Given the description of an element on the screen output the (x, y) to click on. 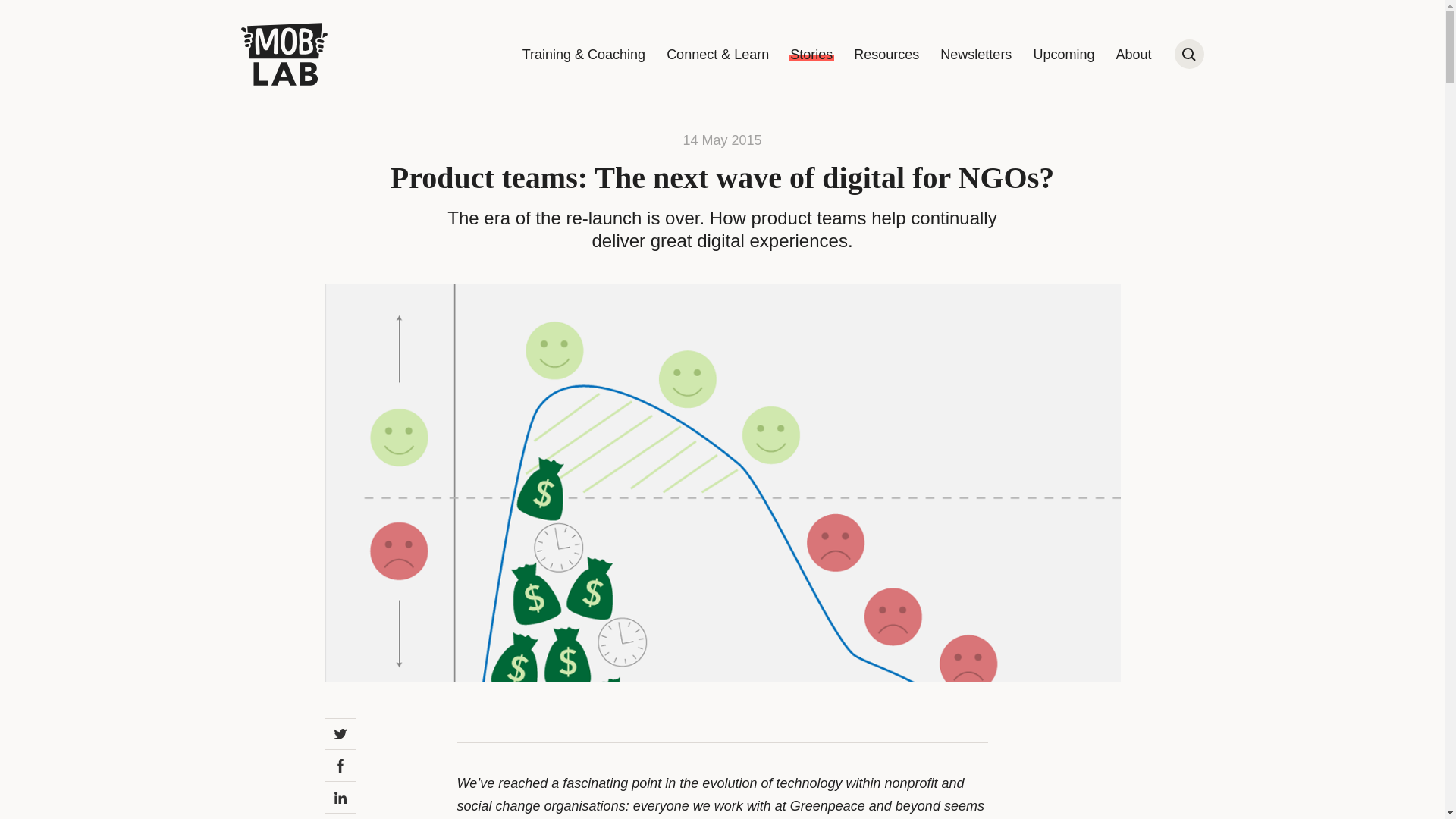
MobLab (284, 53)
Newsletters (975, 54)
Resources (885, 54)
Stories (811, 54)
Upcoming (1063, 54)
About (1133, 54)
